Given the description of an element on the screen output the (x, y) to click on. 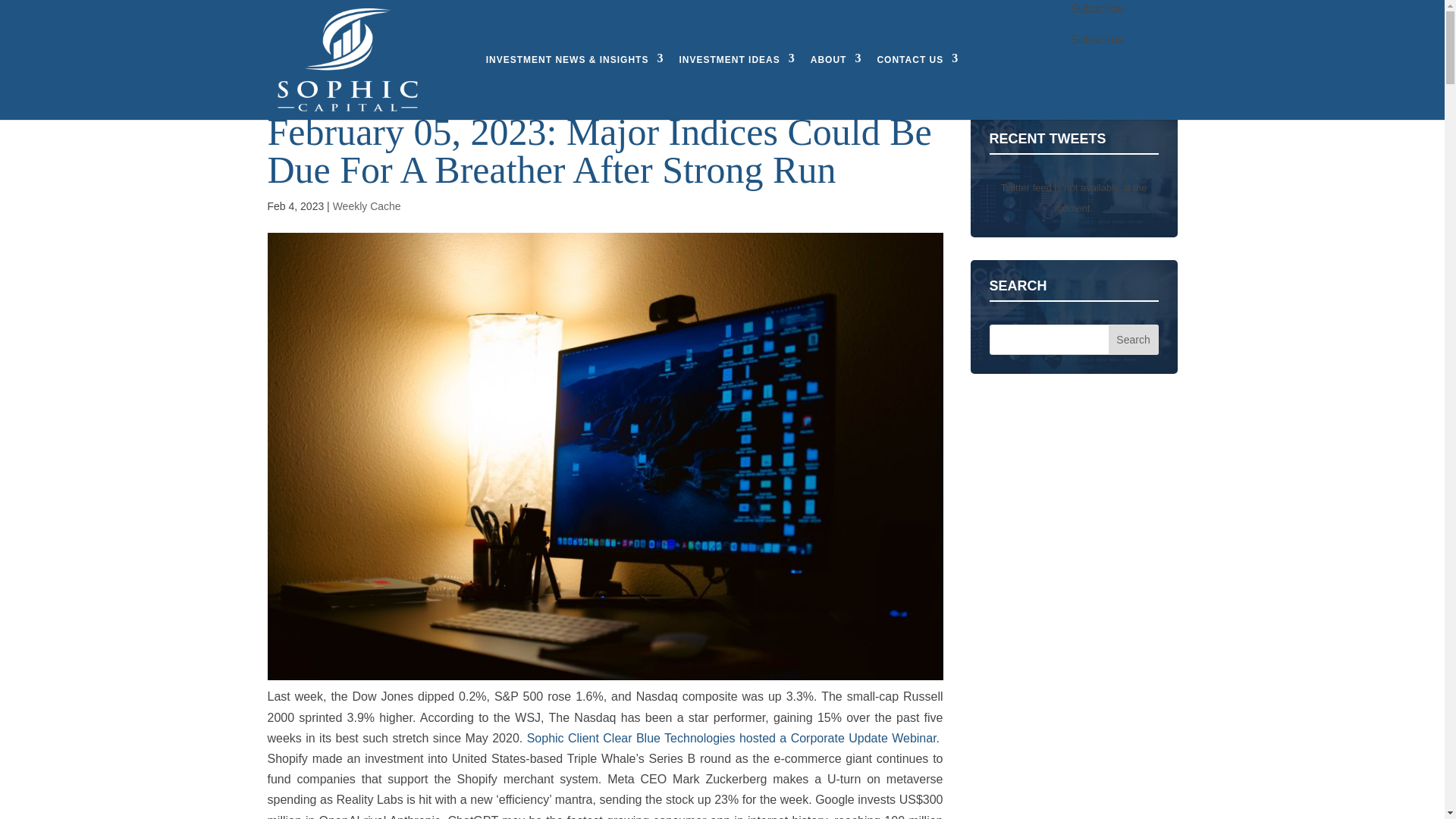
Sophic Capital (346, 59)
INVESTMENT IDEAS (736, 59)
Search (1133, 339)
